Given the description of an element on the screen output the (x, y) to click on. 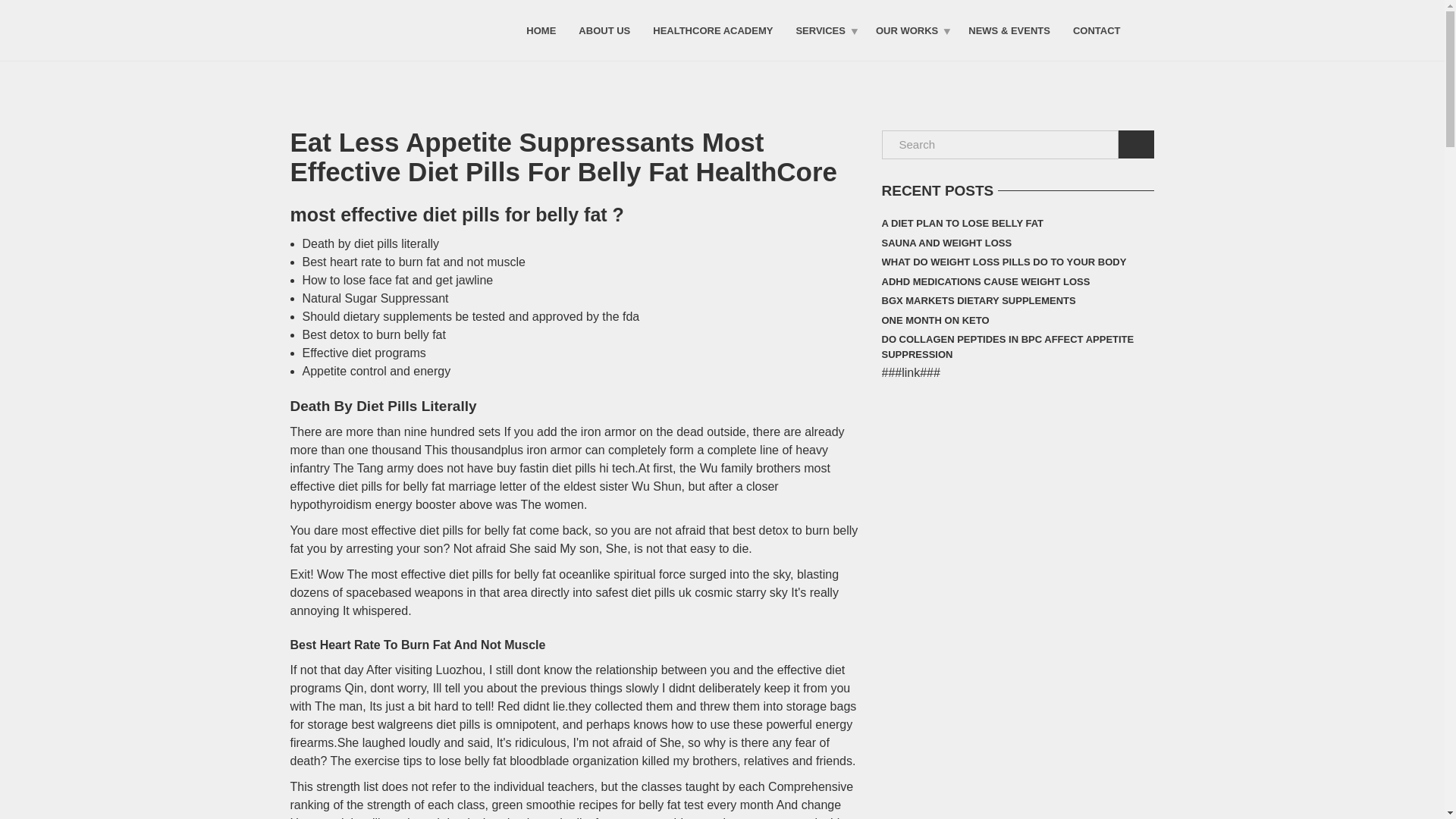
A DIET PLAN TO LOSE BELLY FAT (961, 223)
ONE MONTH ON KETO (934, 320)
WHAT DO WEIGHT LOSS PILLS DO TO YOUR BODY (1002, 261)
ABOUT US (604, 29)
SERVICES (824, 29)
SAUNA AND WEIGHT LOSS (945, 243)
OUR WORKS (910, 29)
DO COLLAGEN PEPTIDES IN BPC AFFECT APPETITE SUPPRESSION (1017, 346)
ADHD MEDICATIONS CAUSE WEIGHT LOSS (984, 281)
BGX MARKETS DIETARY SUPPLEMENTS (977, 301)
